Given the description of an element on the screen output the (x, y) to click on. 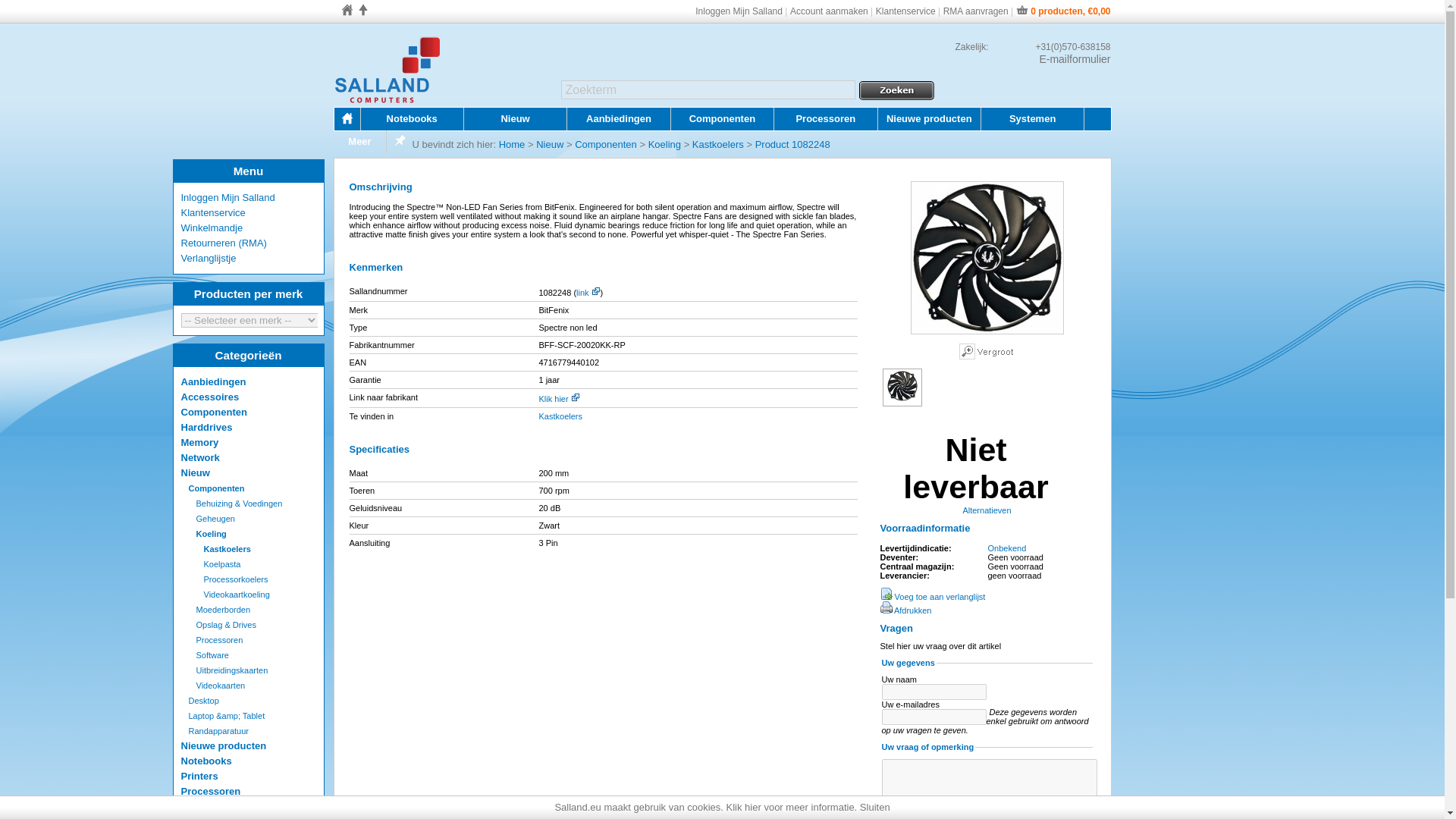
Vergroten (986, 330)
Notebooks (410, 118)
Klantenservice (906, 10)
Zoekterm (708, 89)
E-mailformulier (1050, 59)
Nieuw (514, 118)
Inloggen Mijn Salland (739, 10)
RMA aanvragen (976, 10)
Voeg toe aan verlanglijstje (932, 596)
permalink (595, 290)
